Given the description of an element on the screen output the (x, y) to click on. 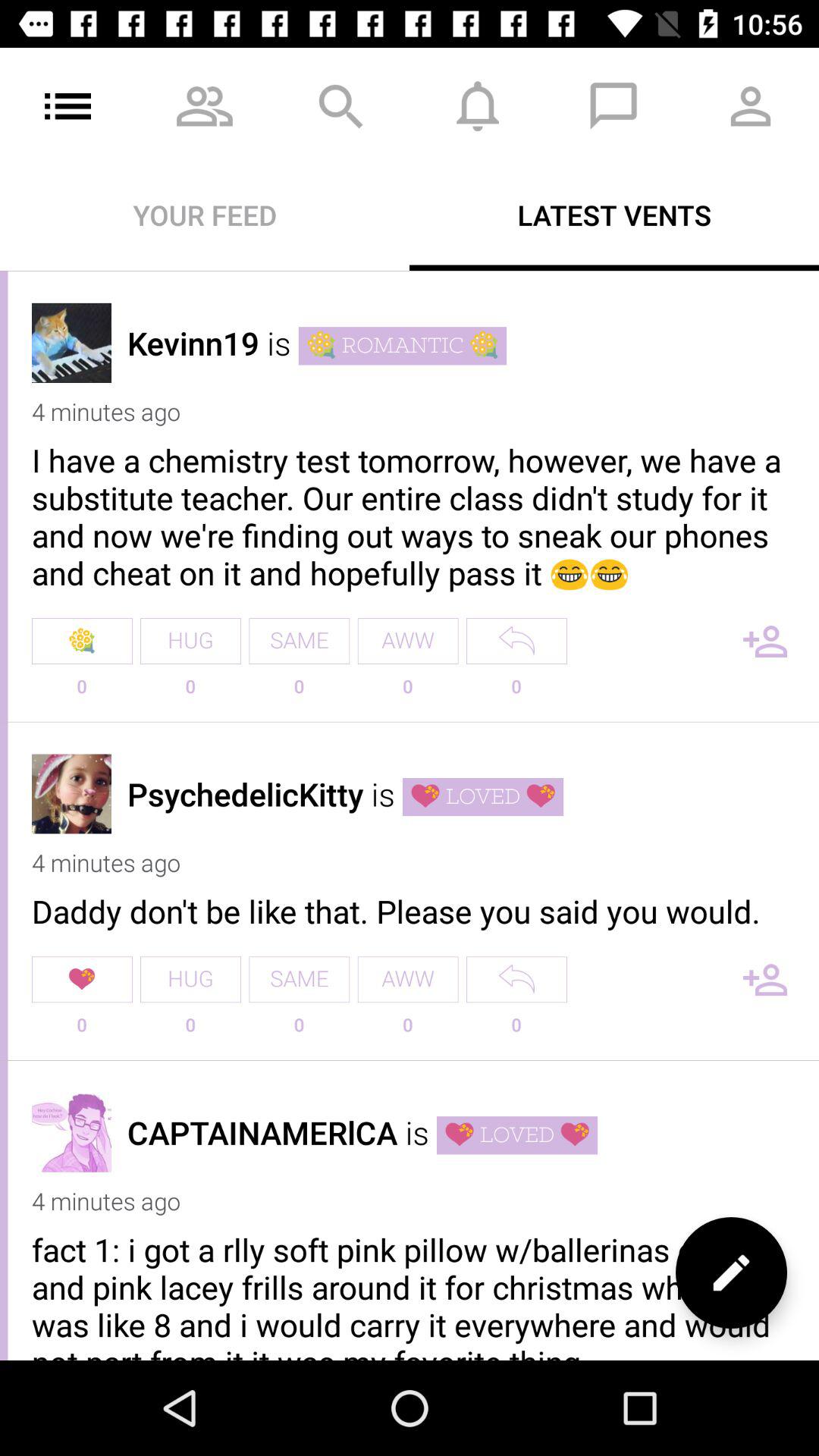
add contact as friend (765, 979)
